Given the description of an element on the screen output the (x, y) to click on. 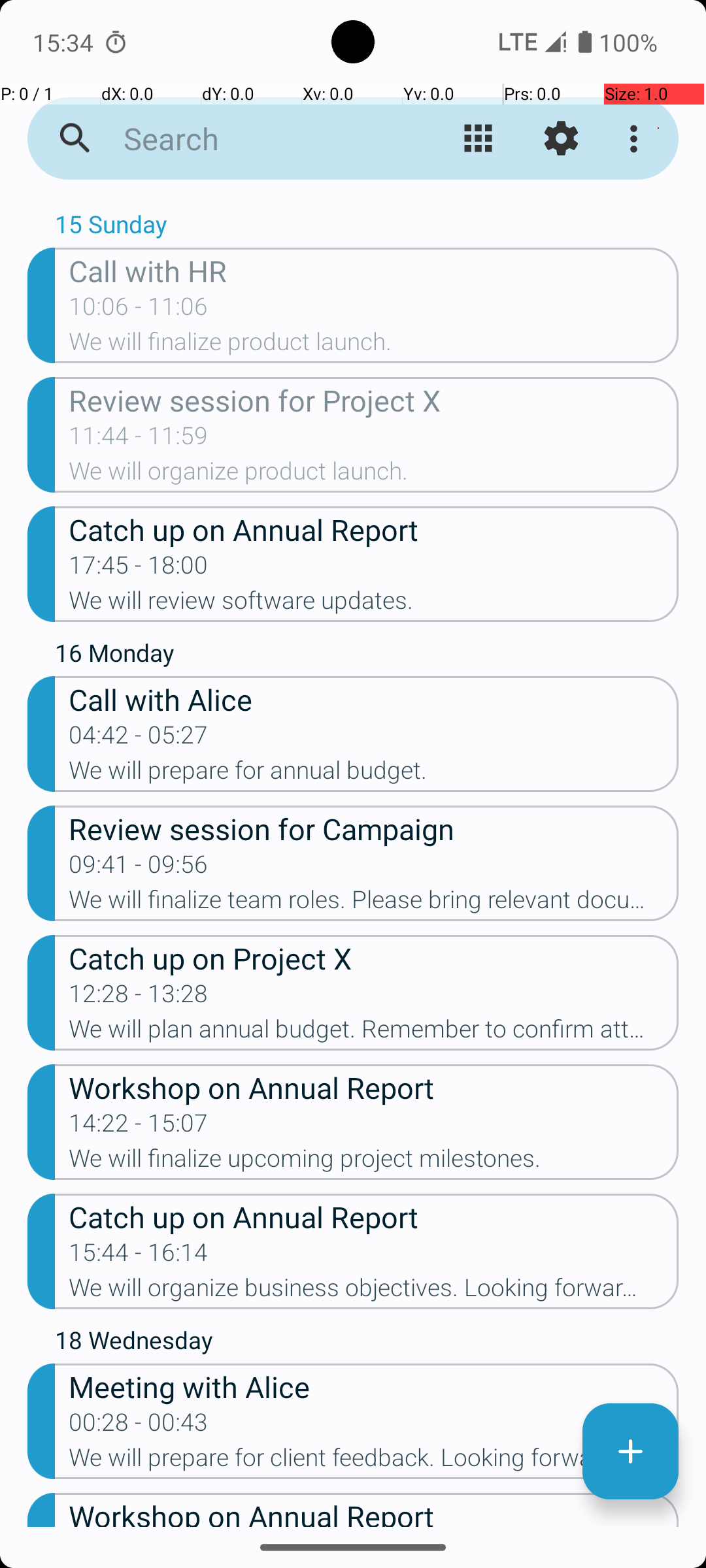
10:06 - 11:06 Element type: android.widget.TextView (137, 309)
We will finalize product launch. Element type: android.widget.TextView (373, 345)
11:44 - 11:59 Element type: android.widget.TextView (137, 439)
We will organize product launch. Element type: android.widget.TextView (373, 474)
17:45 - 18:00 Element type: android.widget.TextView (137, 568)
We will review software updates. Element type: android.widget.TextView (373, 603)
04:42 - 05:27 Element type: android.widget.TextView (137, 738)
We will prepare for annual budget. Element type: android.widget.TextView (373, 773)
09:41 - 09:56 Element type: android.widget.TextView (137, 867)
We will finalize team roles. Please bring relevant documents. Element type: android.widget.TextView (373, 903)
12:28 - 13:28 Element type: android.widget.TextView (137, 997)
We will plan annual budget. Remember to confirm attendance. Element type: android.widget.TextView (373, 1032)
14:22 - 15:07 Element type: android.widget.TextView (137, 1126)
We will finalize upcoming project milestones. Element type: android.widget.TextView (373, 1161)
15:44 - 16:14 Element type: android.widget.TextView (137, 1256)
We will organize business objectives. Looking forward to productive discussions. Element type: android.widget.TextView (373, 1291)
00:28 - 00:43 Element type: android.widget.TextView (137, 1425)
We will prepare for client feedback. Looking forward to productive discussions. Element type: android.widget.TextView (373, 1461)
